Given the description of an element on the screen output the (x, y) to click on. 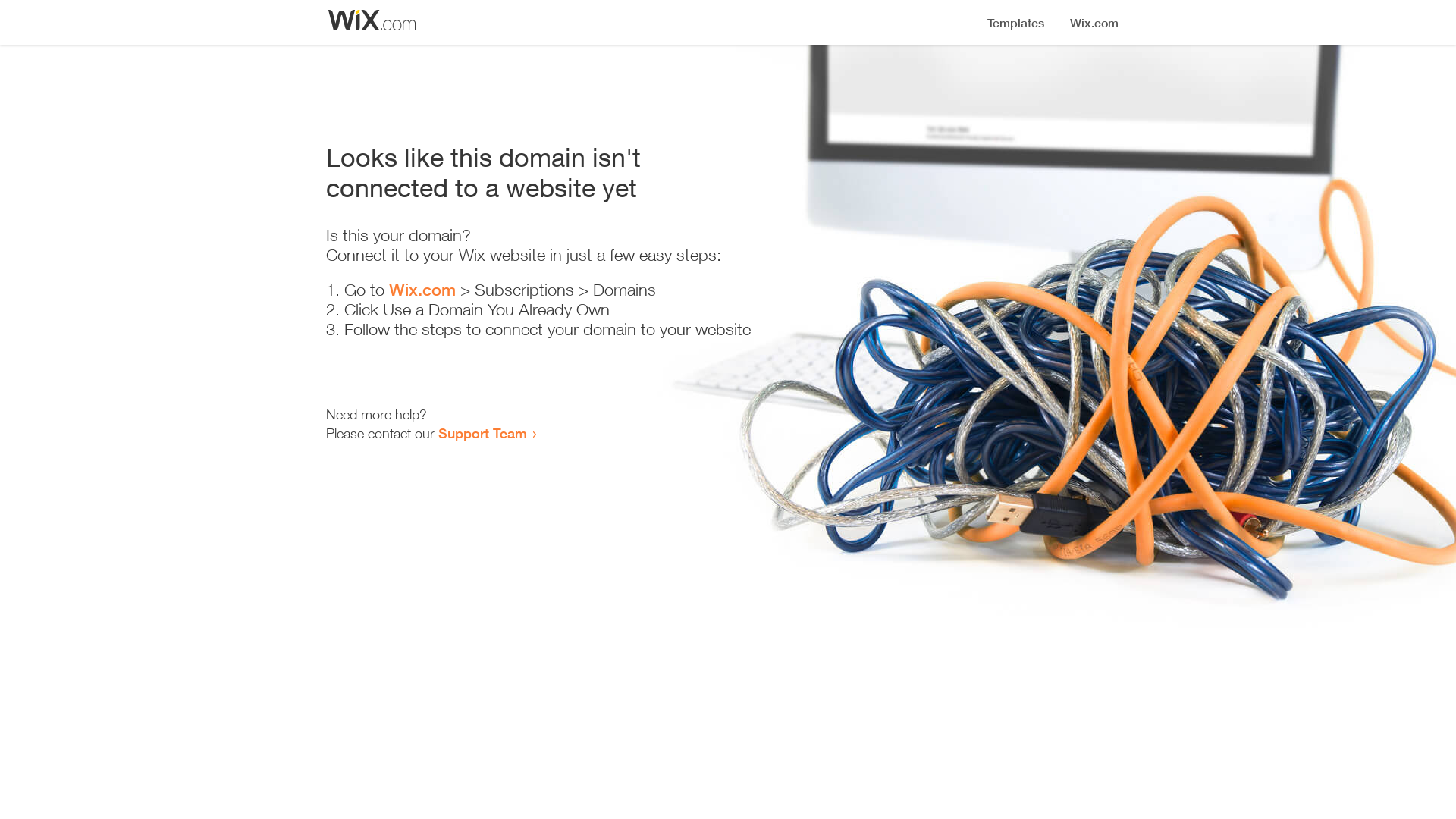
Support Team Element type: text (482, 432)
Wix.com Element type: text (422, 289)
